Given the description of an element on the screen output the (x, y) to click on. 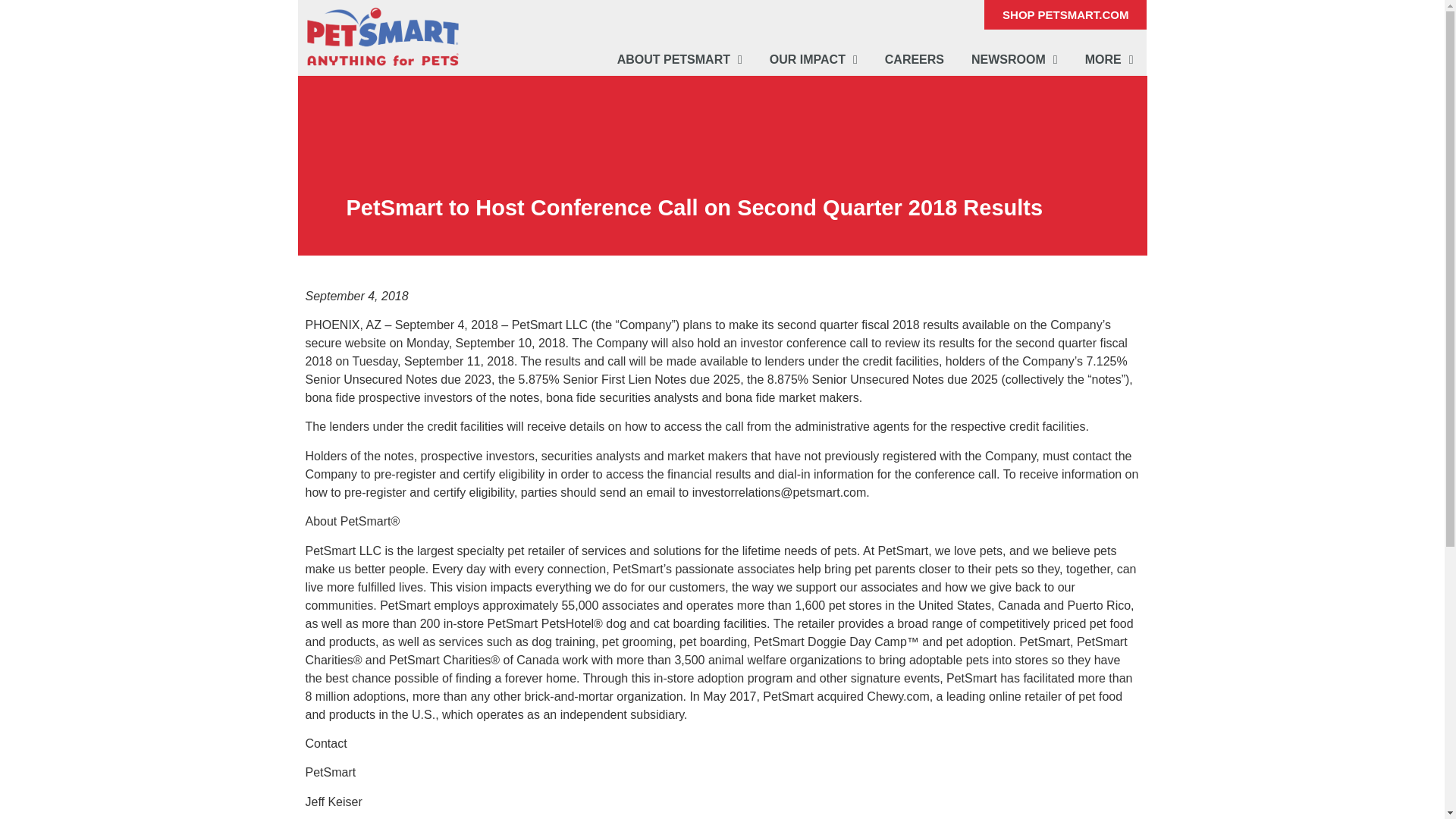
NEWSROOM (1014, 59)
CAREERS (914, 59)
MORE (1109, 59)
ABOUT PETSMART (679, 59)
SHOP PETSMART.COM (1065, 14)
OUR IMPACT (812, 59)
